Given the description of an element on the screen output the (x, y) to click on. 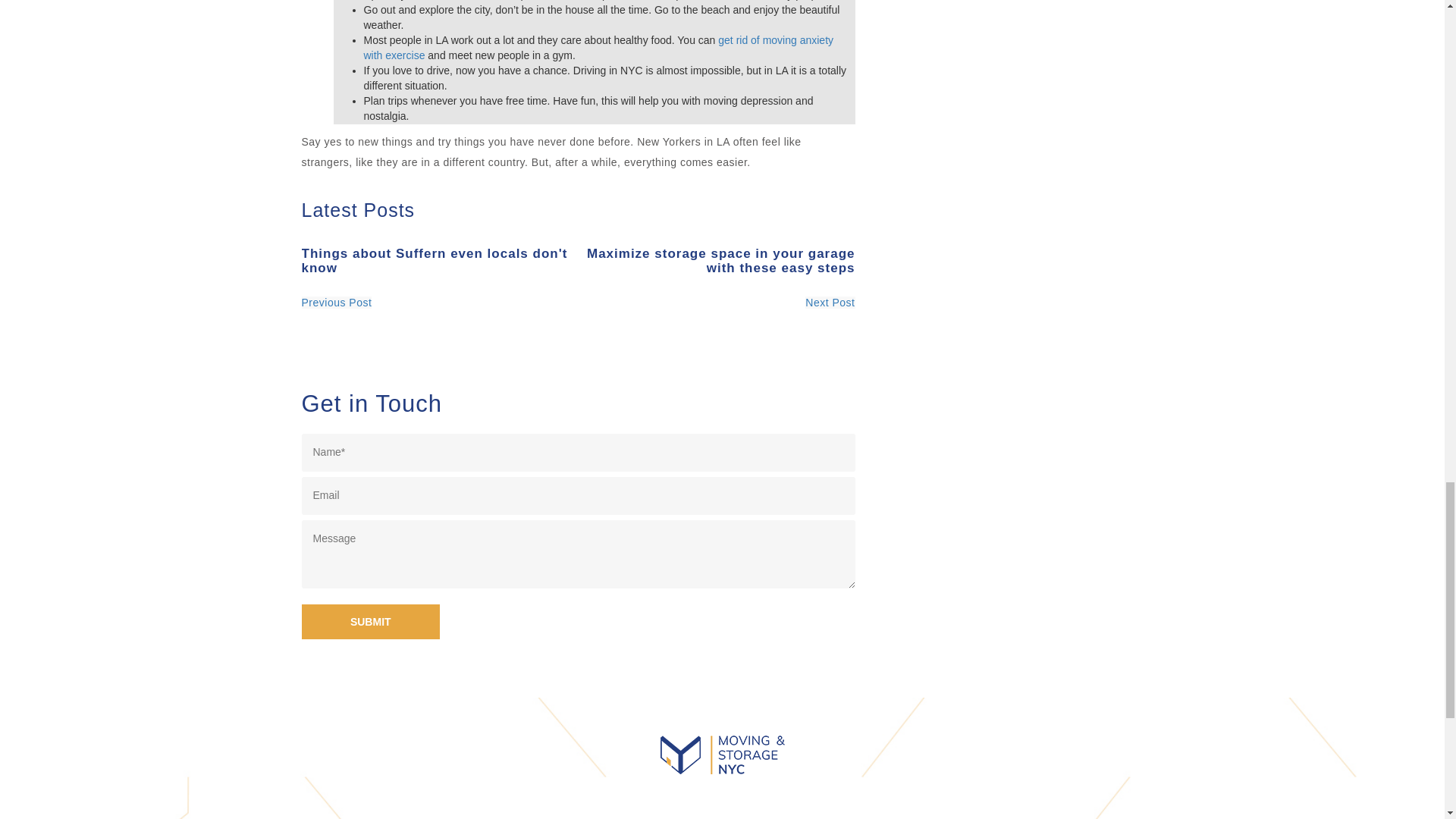
get rid of moving anxiety with exercise (599, 47)
Next Post (829, 302)
HOME (598, 815)
SERVICES (678, 815)
SUBMIT (371, 621)
SUBMIT (371, 621)
BLOG (757, 815)
CONTACT (835, 815)
Previous Post (336, 302)
